Given the description of an element on the screen output the (x, y) to click on. 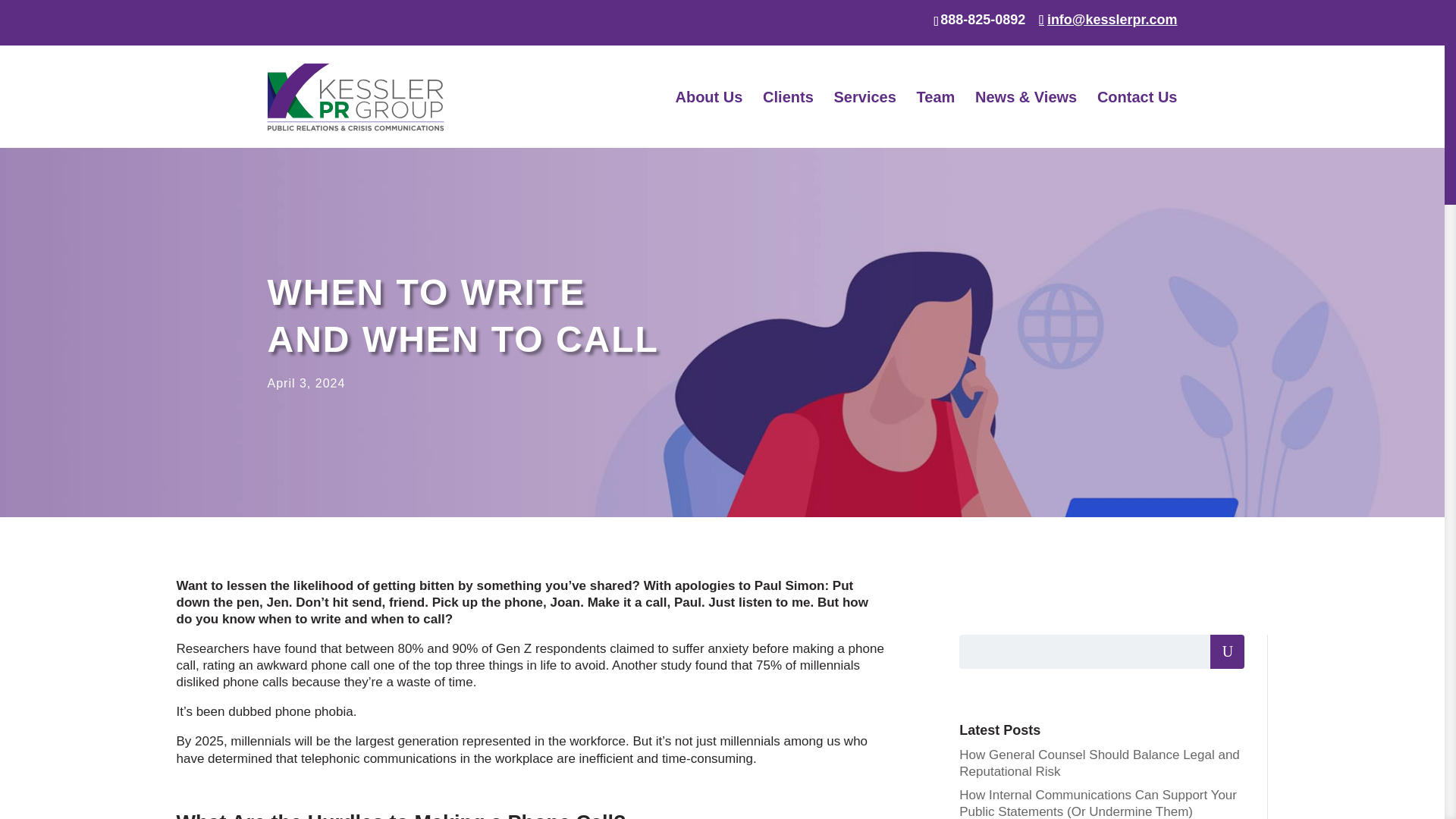
Search (1226, 651)
Contact Us (1137, 119)
About Us (708, 119)
Search (1226, 651)
Clients (787, 119)
Services (865, 119)
